Given the description of an element on the screen output the (x, y) to click on. 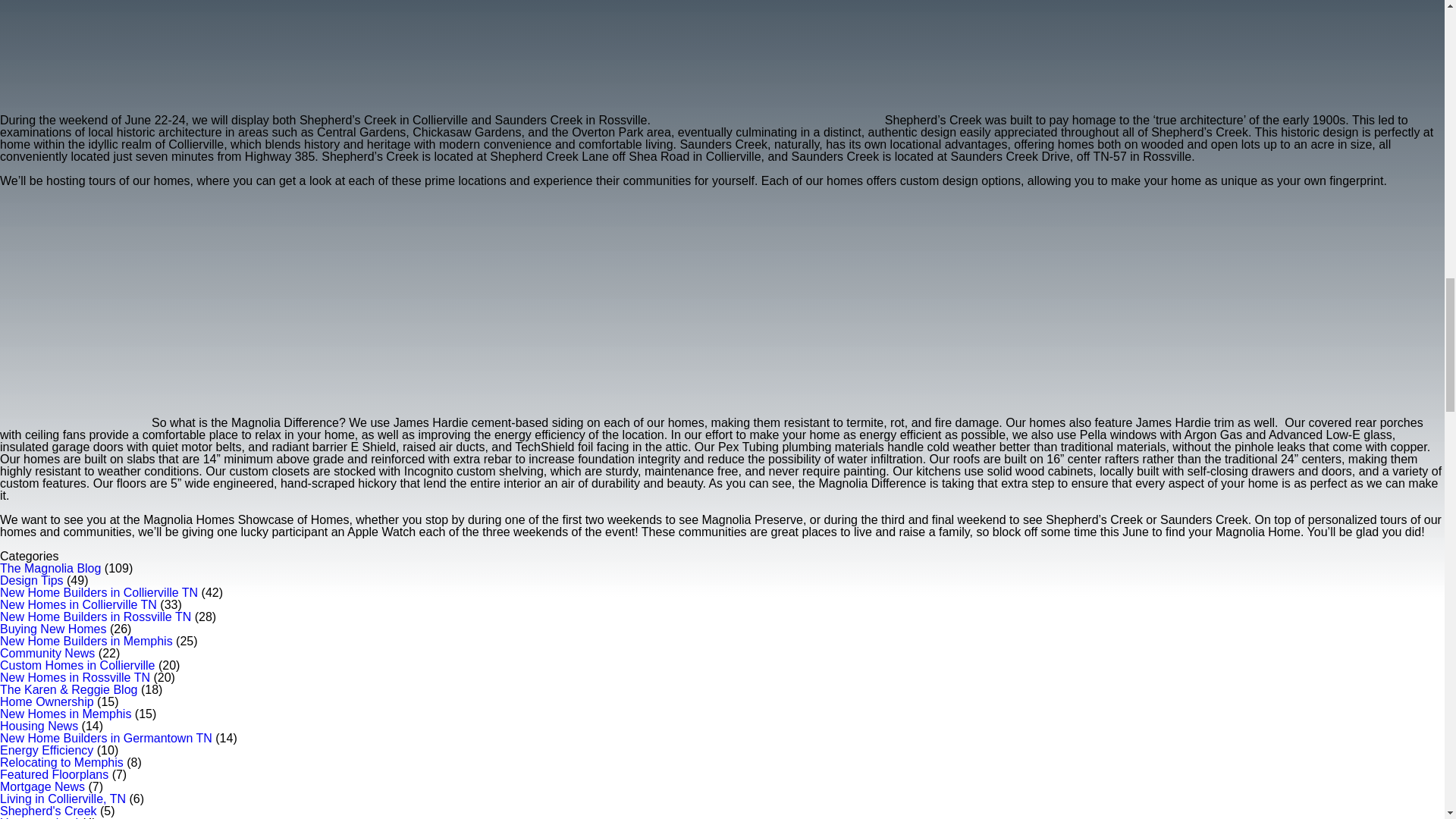
Buying New Homes (53, 628)
New Home Builders in Memphis (86, 640)
The Magnolia Blog (50, 567)
New Home Builders in Germantown TN (106, 738)
Housing News (39, 725)
New Homes in Collierville TN (78, 604)
New Home Builders in Collierville TN (99, 592)
Design Tips (32, 580)
Custom Homes in Collierville (77, 665)
New Home Builders in Rossville TN (95, 616)
